Given the description of an element on the screen output the (x, y) to click on. 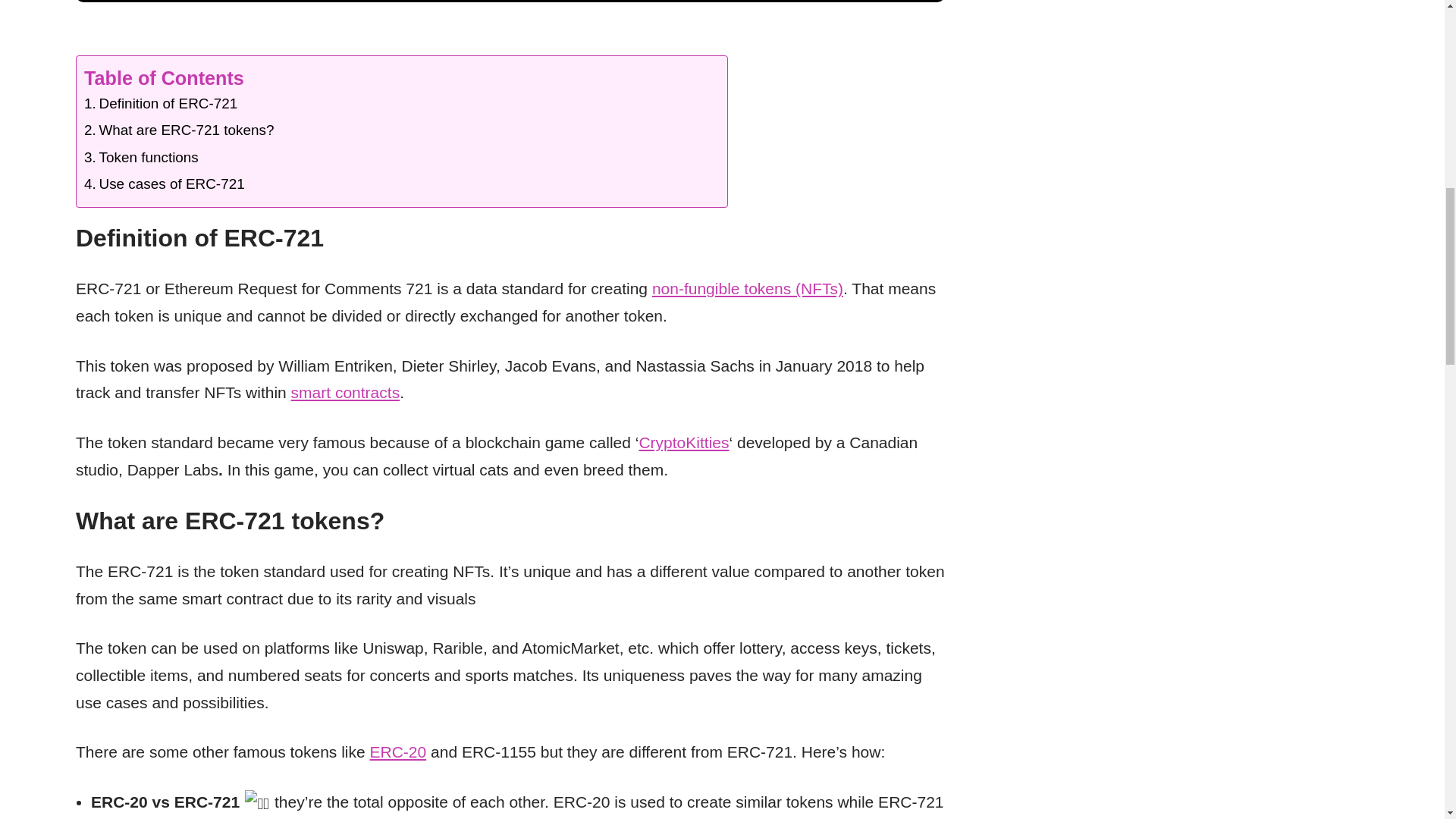
Use cases of ERC-721 (164, 185)
Use cases of ERC-721 (164, 185)
What are ERC-721 tokens? (179, 131)
Token functions (141, 158)
Token functions (141, 158)
Definition of ERC-721 (160, 105)
What are ERC-721 tokens? (179, 131)
smart contracts (345, 392)
CryptoKitties (684, 442)
Definition of ERC-721 (160, 105)
